Given the description of an element on the screen output the (x, y) to click on. 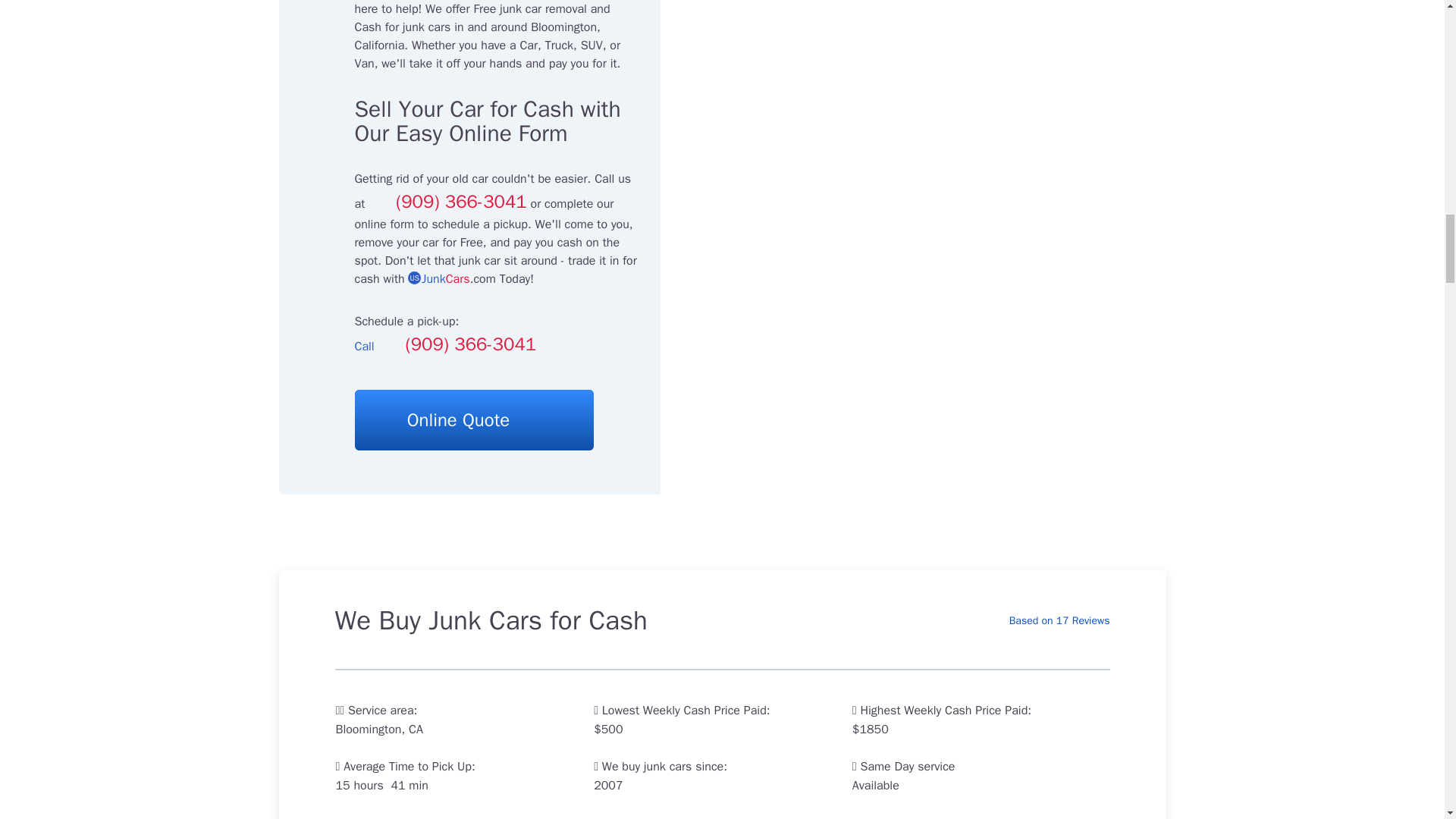
Online Quote (474, 419)
